Given the description of an element on the screen output the (x, y) to click on. 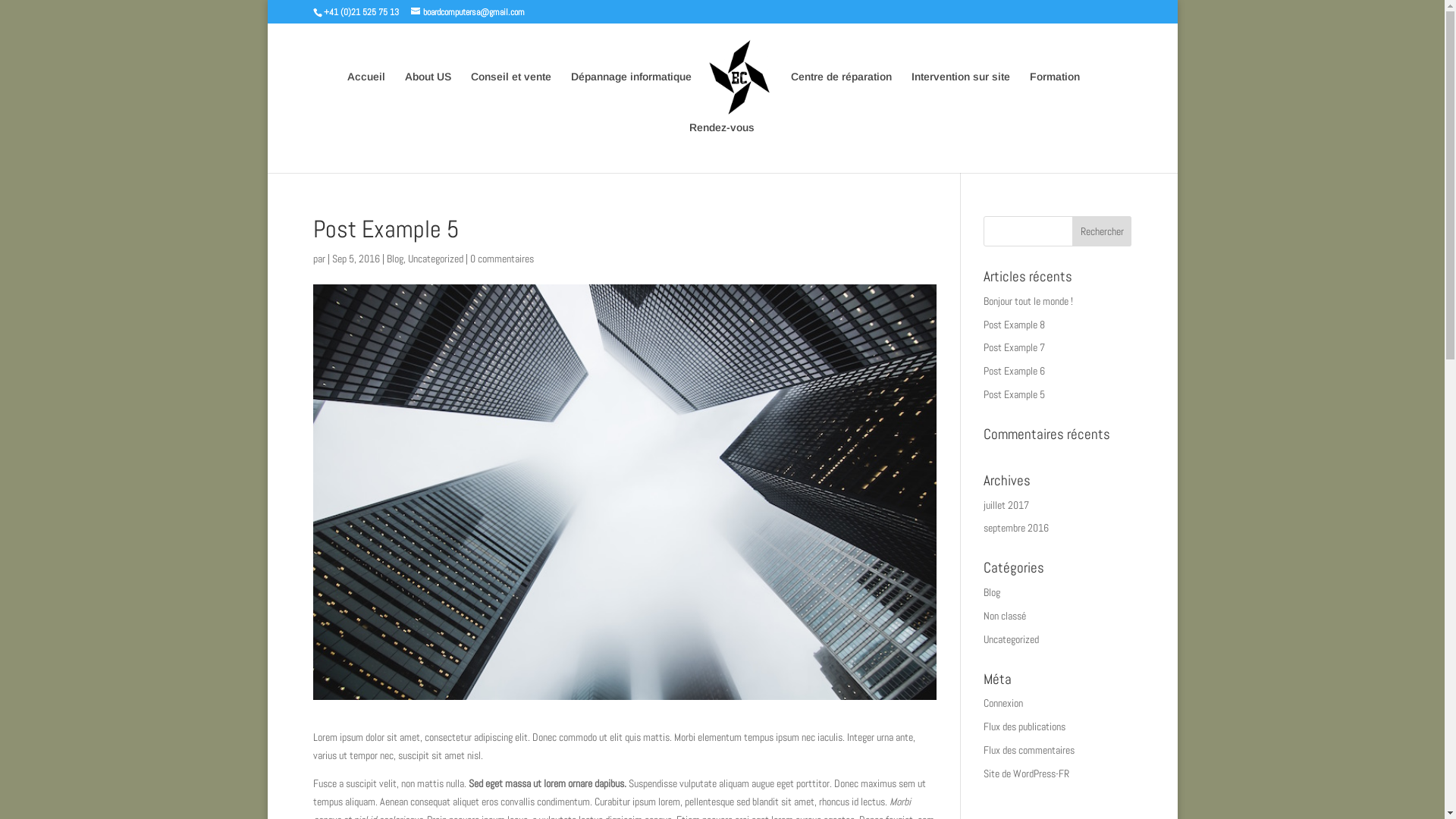
Bonjour tout le monde ! Element type: text (1028, 300)
Post Example 5 Element type: text (1013, 394)
Intervention sur site Element type: text (960, 96)
Formation Element type: text (1054, 96)
Blog Element type: text (991, 592)
Rendez-vous Element type: text (720, 147)
Uncategorized Element type: text (435, 258)
Post Example 6 Element type: text (1013, 370)
Flux des commentaires Element type: text (1028, 749)
septembre 2016 Element type: text (1015, 527)
Accueil Element type: text (366, 96)
Connexion Element type: text (1002, 702)
Uncategorized Element type: text (1010, 639)
0 commentaires Element type: text (501, 258)
Post Example 8 Element type: text (1013, 324)
juillet 2017 Element type: text (1006, 504)
About US Element type: text (427, 96)
Rechercher Element type: text (1102, 231)
Post Example 7 Element type: text (1013, 347)
boardcomputersa@gmail.com Element type: text (467, 12)
Blog Element type: text (394, 258)
Flux des publications Element type: text (1024, 726)
Conseil et vente Element type: text (510, 96)
Site de WordPress-FR Element type: text (1026, 773)
